Given the description of an element on the screen output the (x, y) to click on. 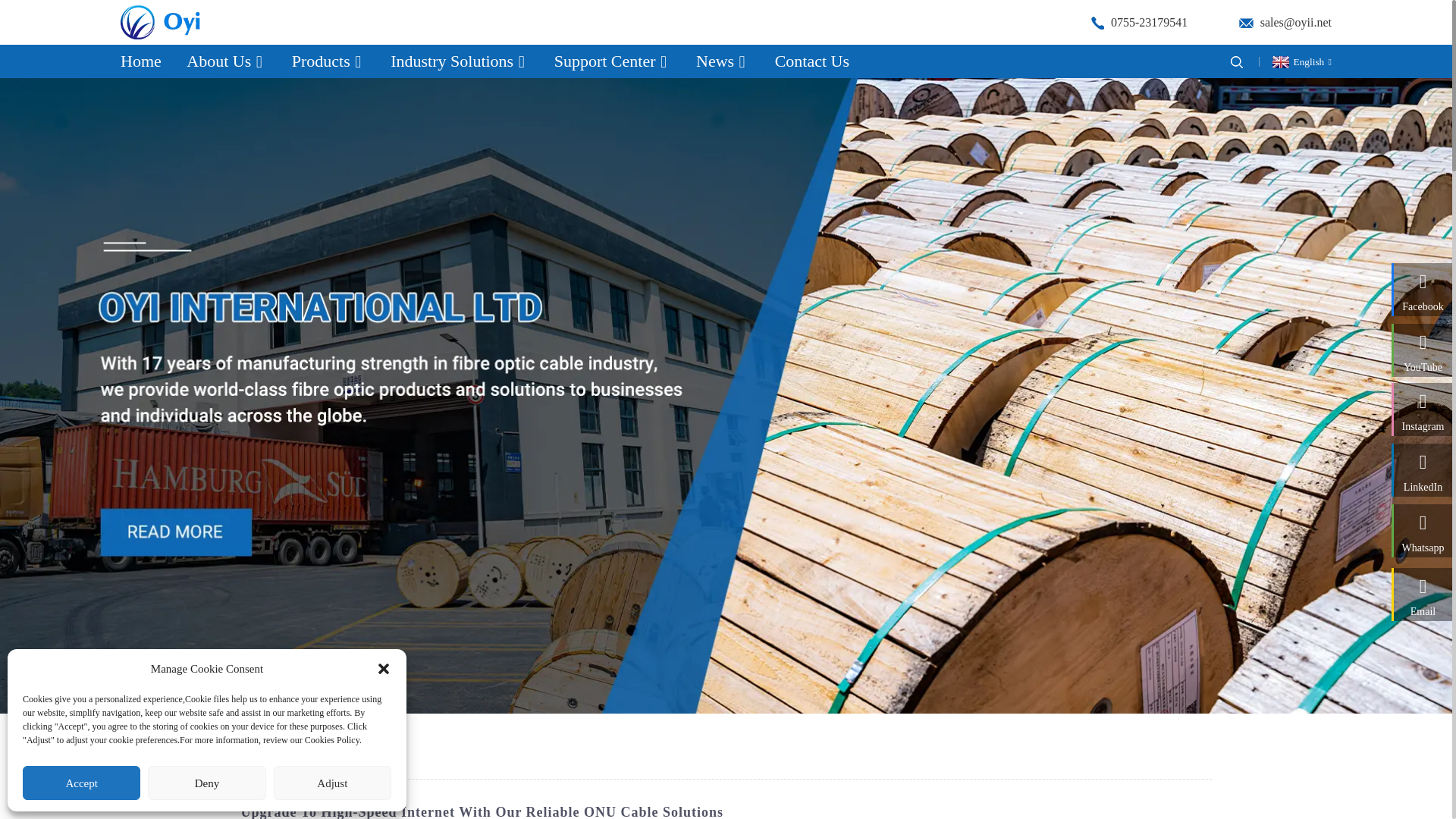
English (1300, 61)
Support Center (612, 61)
Products (328, 61)
News (722, 61)
Home (140, 61)
Getting started (283, 758)
Contact Us (811, 61)
About Us (226, 61)
Industry Solutions (459, 61)
0755-23179541 (1139, 21)
